Given the description of an element on the screen output the (x, y) to click on. 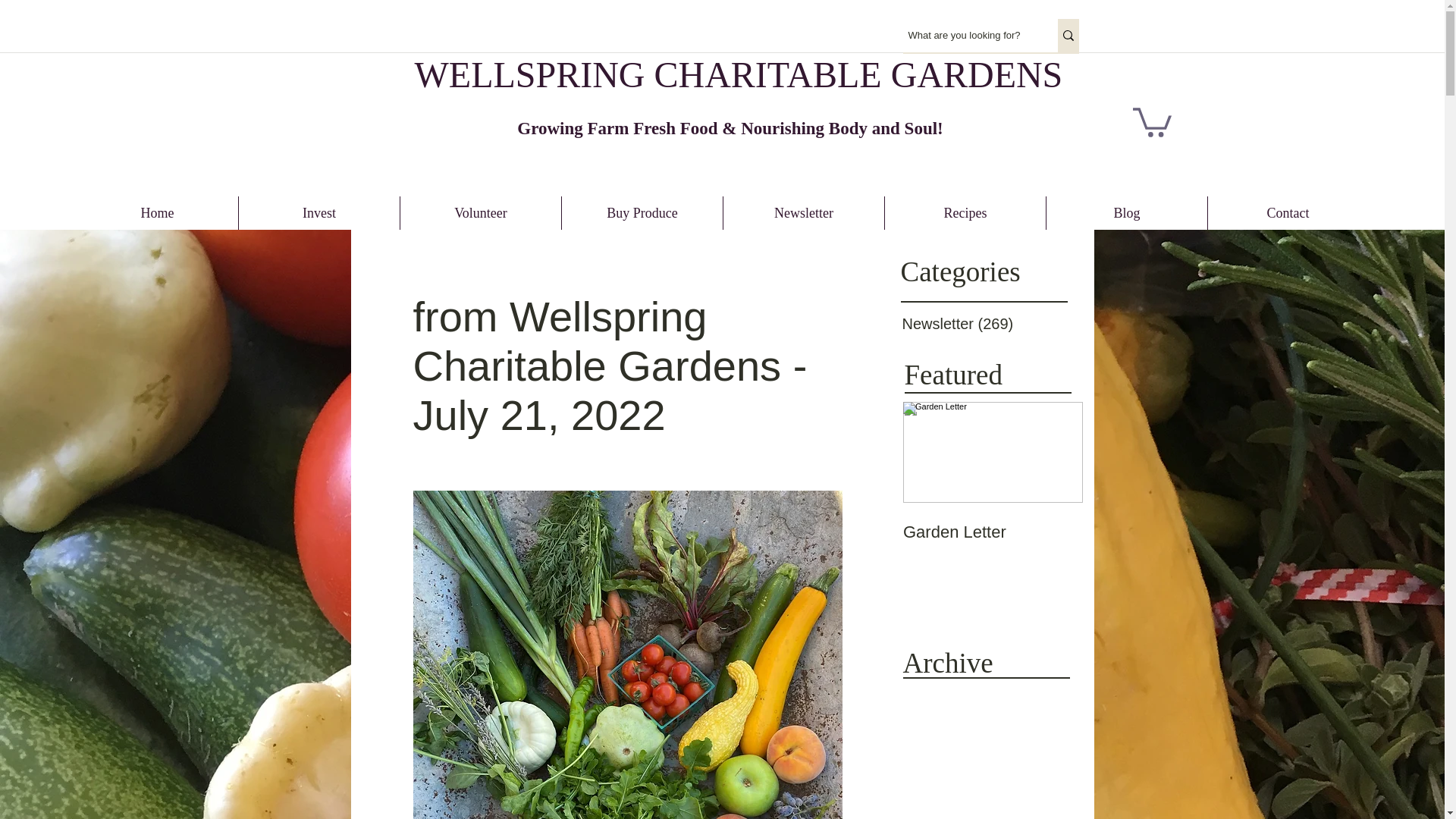
Buy Produce (642, 213)
Home (157, 213)
Garden Letter (991, 532)
Blog (1126, 213)
Newsletter (803, 213)
Volunteer (480, 213)
Contact (1288, 213)
Recipes (965, 213)
Invest (318, 213)
